Given the description of an element on the screen output the (x, y) to click on. 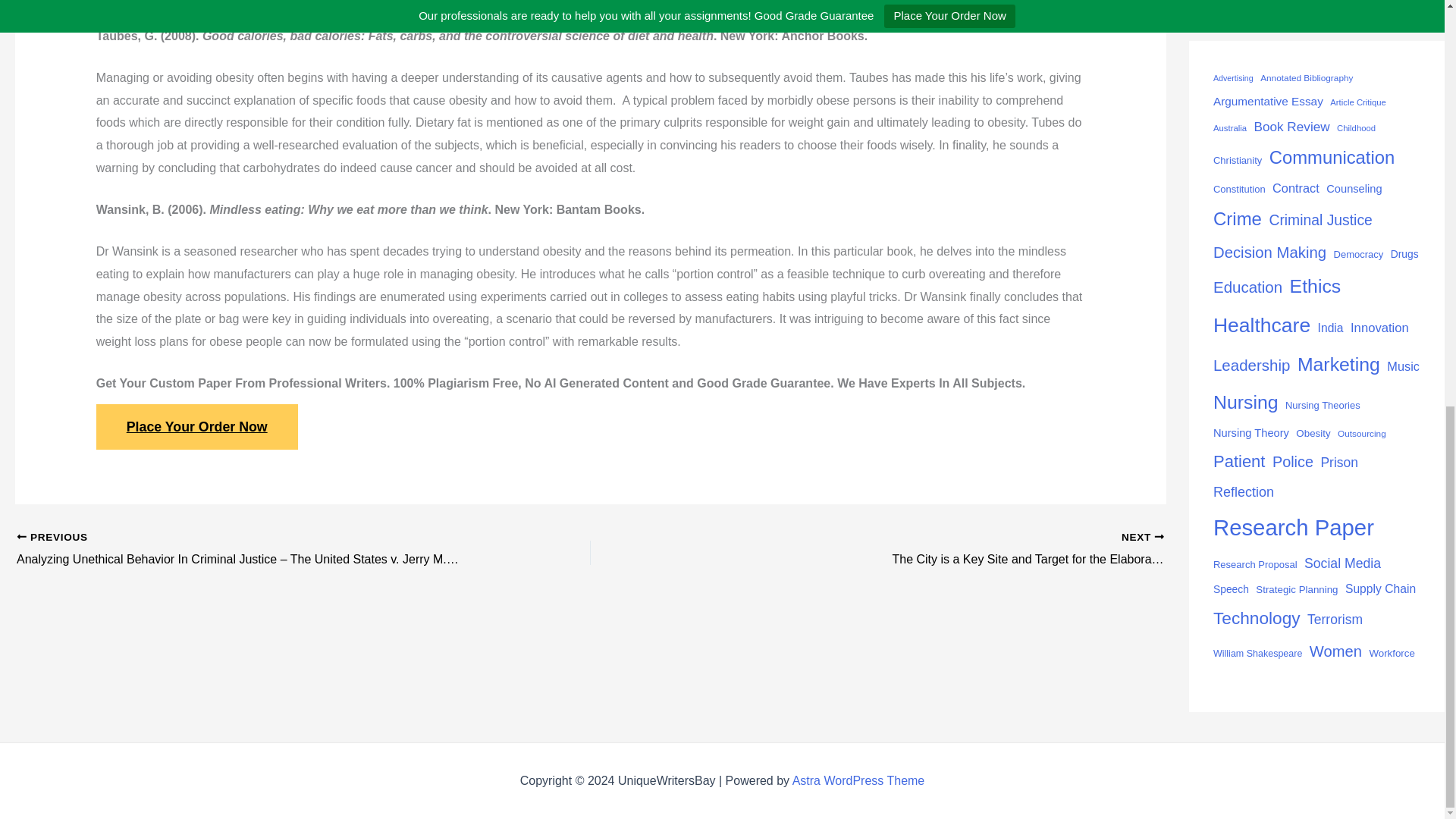
Article Critique (1358, 102)
Childhood (1355, 128)
India (1330, 327)
Healthcare (1261, 325)
Book Review (1291, 126)
Drugs (1404, 254)
Crime (1237, 218)
Counseling (1353, 188)
Place Your Order Now (197, 426)
Decision Making (1269, 252)
